Given the description of an element on the screen output the (x, y) to click on. 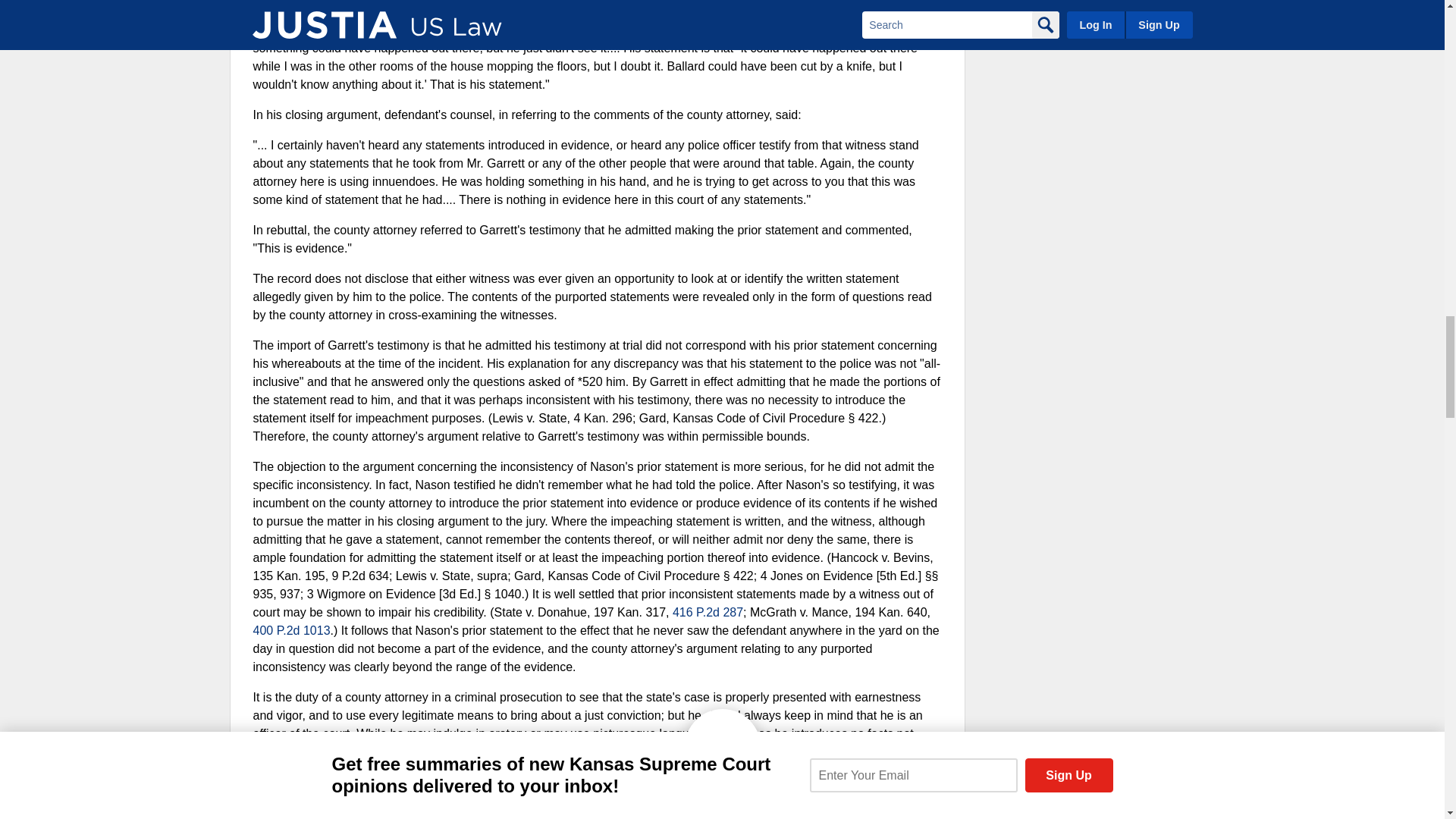
323 P.2d 917 (584, 809)
400 P.2d 1013 (291, 630)
318 P.2d 662 (470, 818)
416 P.2d 287 (707, 612)
